Given the description of an element on the screen output the (x, y) to click on. 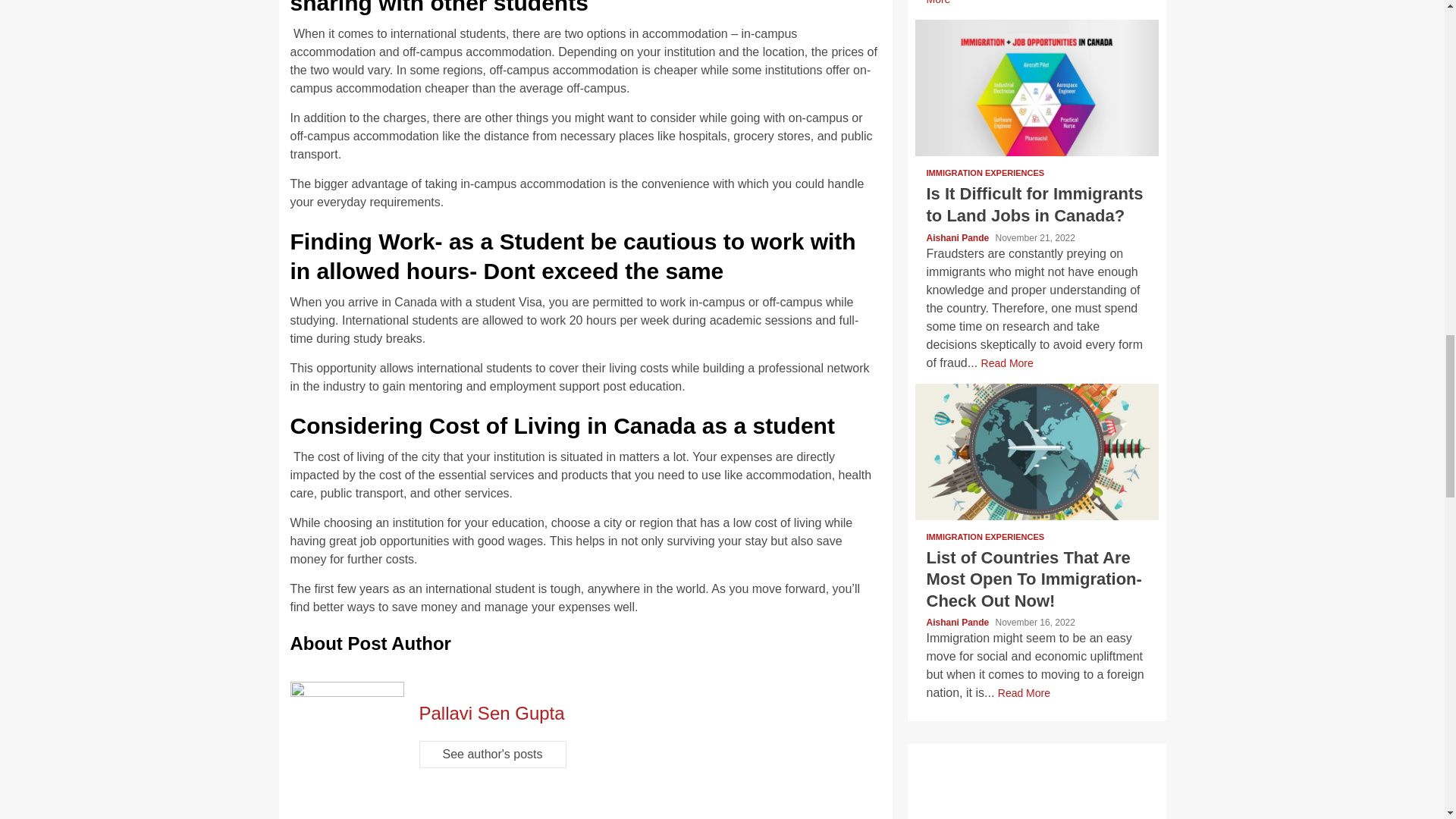
See author's posts (492, 754)
Pallavi Sen Gupta (491, 712)
